Given the description of an element on the screen output the (x, y) to click on. 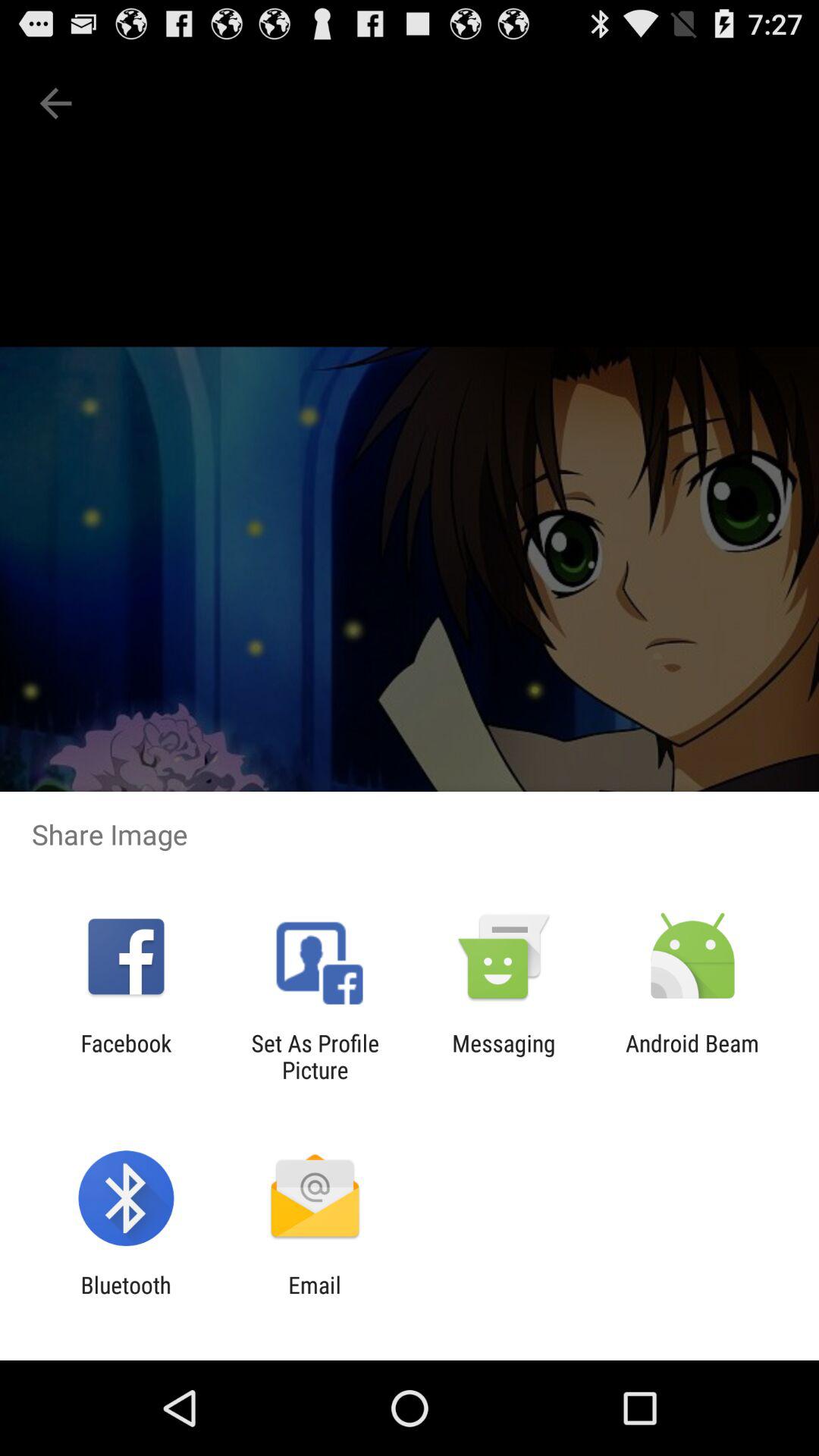
turn on app next to email item (125, 1298)
